Given the description of an element on the screen output the (x, y) to click on. 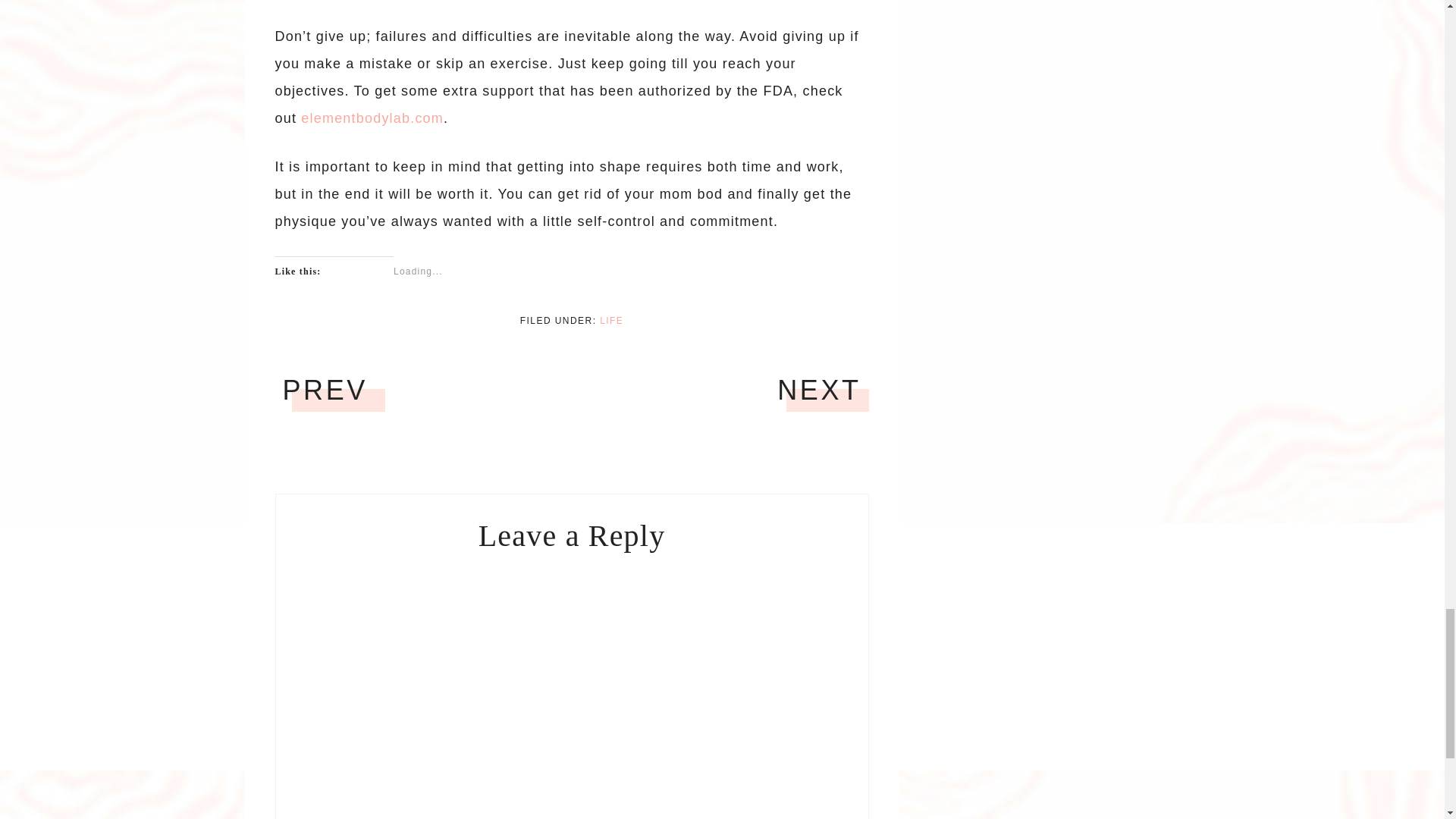
LIFE (611, 320)
PREV (324, 389)
NEXT (818, 389)
elementbodylab.com (372, 118)
